Given the description of an element on the screen output the (x, y) to click on. 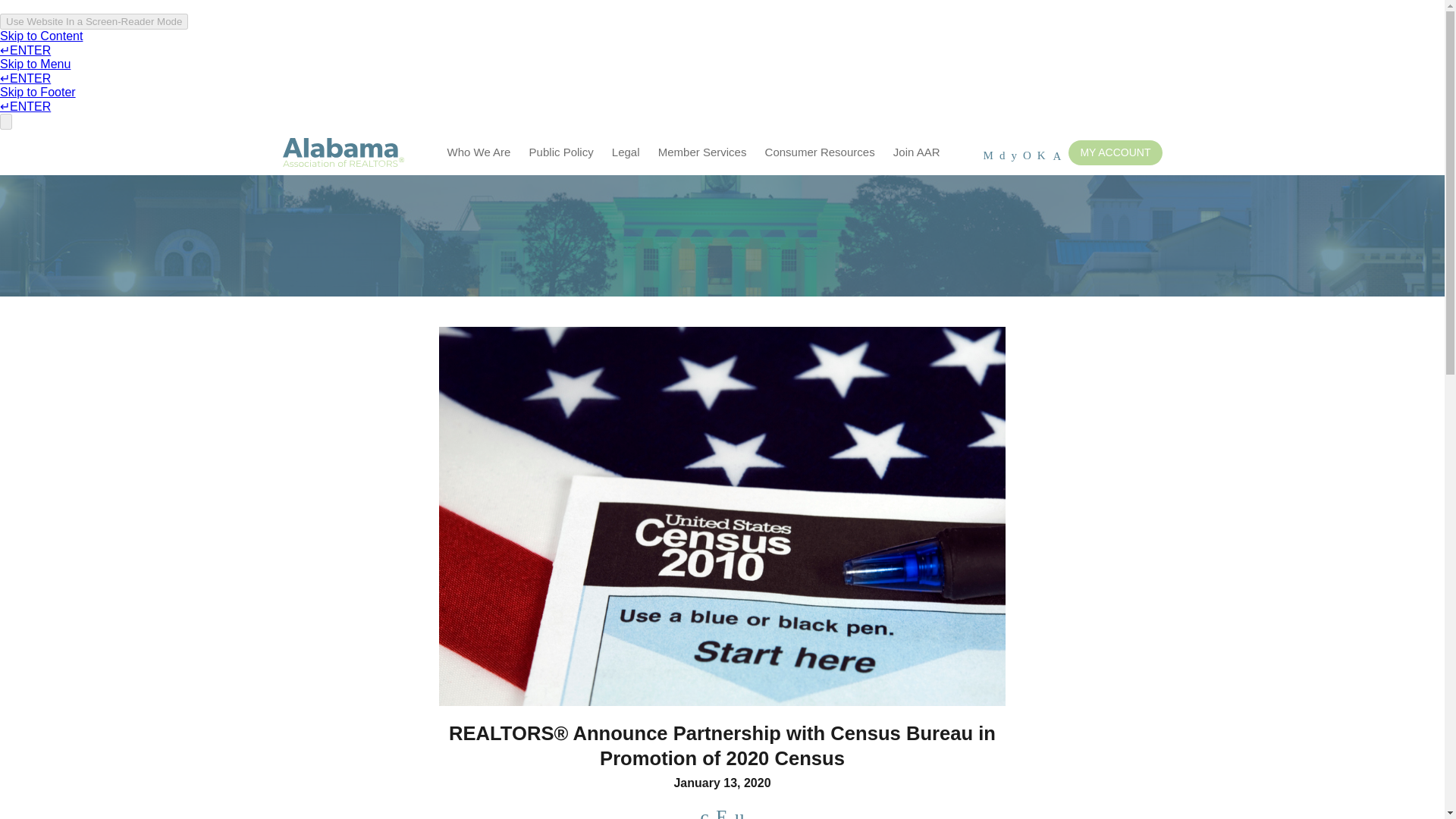
Public Policy (561, 152)
Alabama Association of REALTORS (342, 152)
Member Services (702, 152)
Legal (625, 152)
Consumer Resources (819, 152)
Who We Are (478, 152)
